Given the description of an element on the screen output the (x, y) to click on. 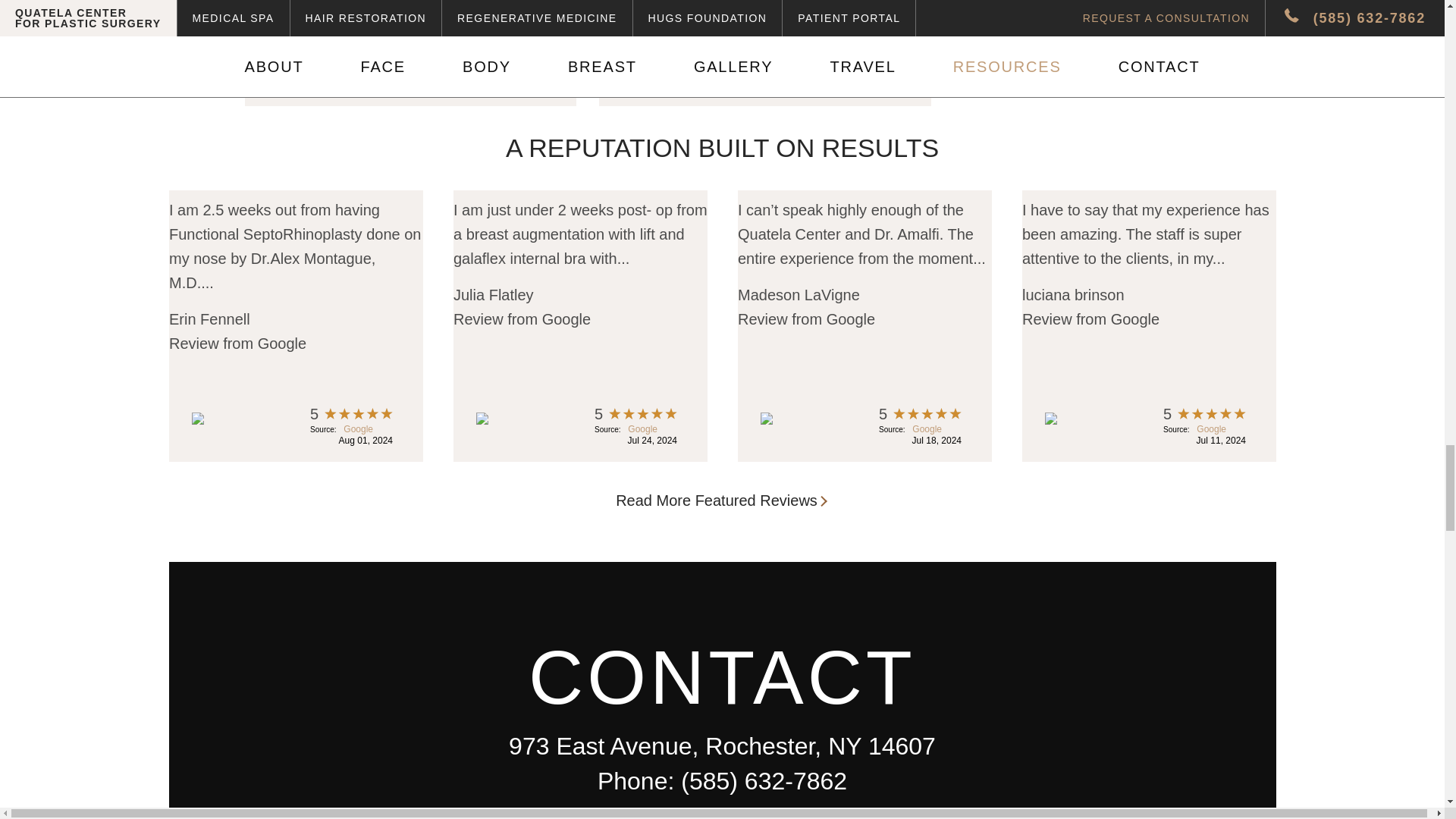
You Asked, We Answered! (764, 43)
Lindsay House COVID-19 Updates April 2021 (410, 53)
